Given the description of an element on the screen output the (x, y) to click on. 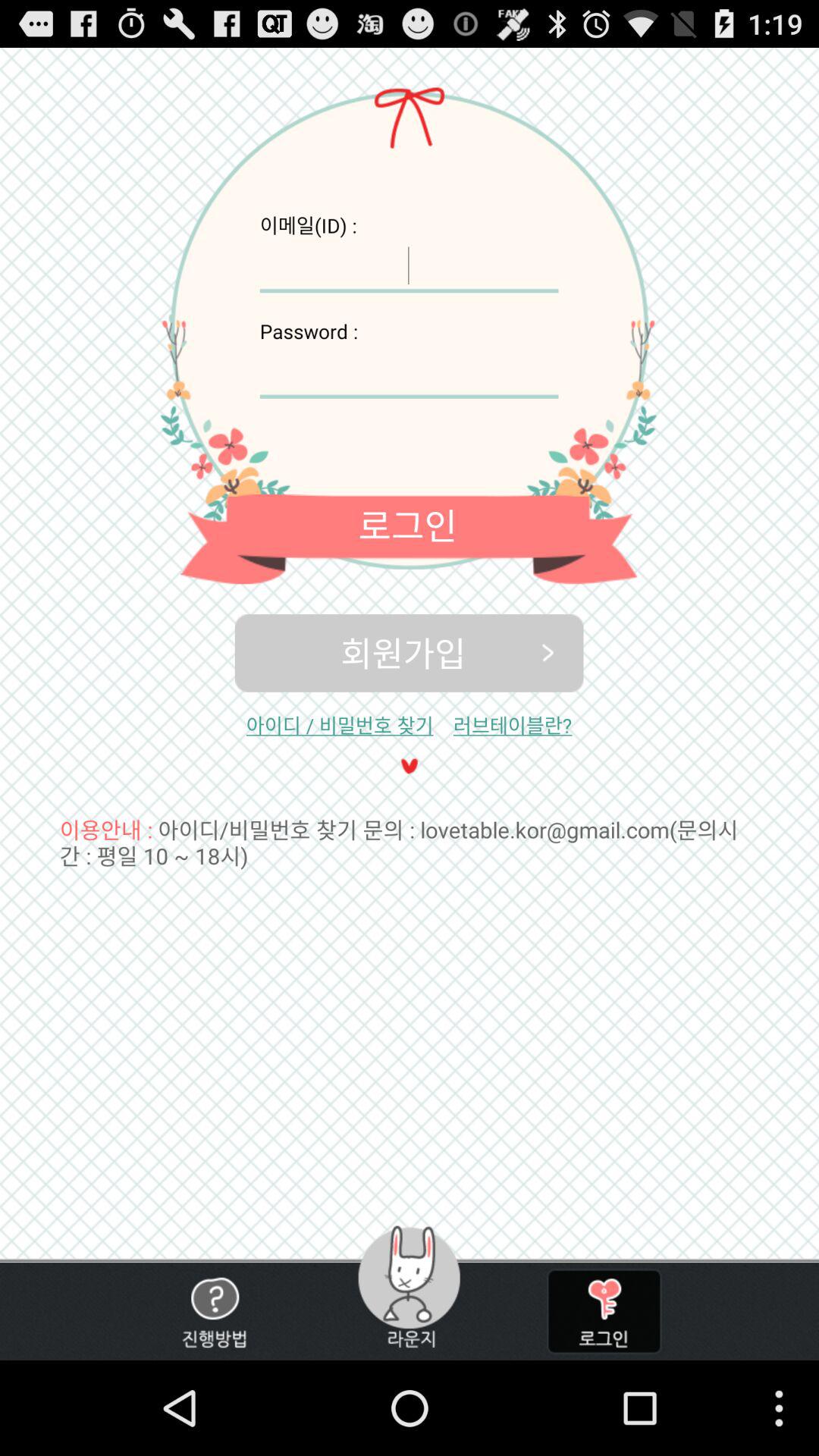
user name enter option (408, 265)
